Given the description of an element on the screen output the (x, y) to click on. 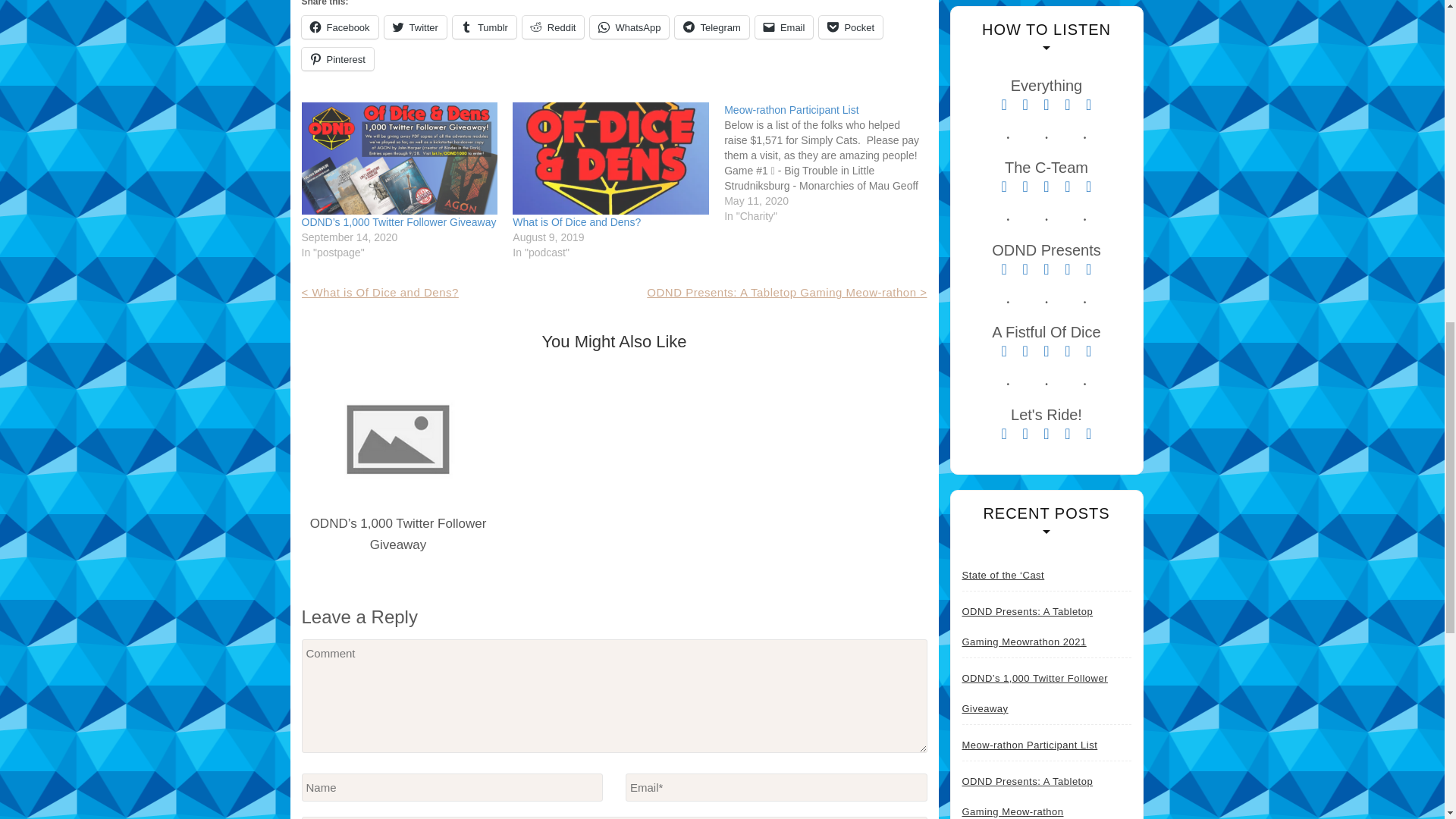
Facebook (339, 26)
Click to share on Tumblr (484, 26)
Twitter (415, 26)
Click to share on Telegram (711, 26)
Click to share on Pinterest (337, 58)
Click to share on Facebook (339, 26)
Click to share on Pocket (850, 26)
What is Of Dice and Dens? (610, 158)
Reddit (553, 26)
Click to share on Twitter (415, 26)
Click to share on Reddit (553, 26)
Tumblr (484, 26)
Click to email a link to a friend (784, 26)
Click to share on WhatsApp (628, 26)
